Given the description of an element on the screen output the (x, y) to click on. 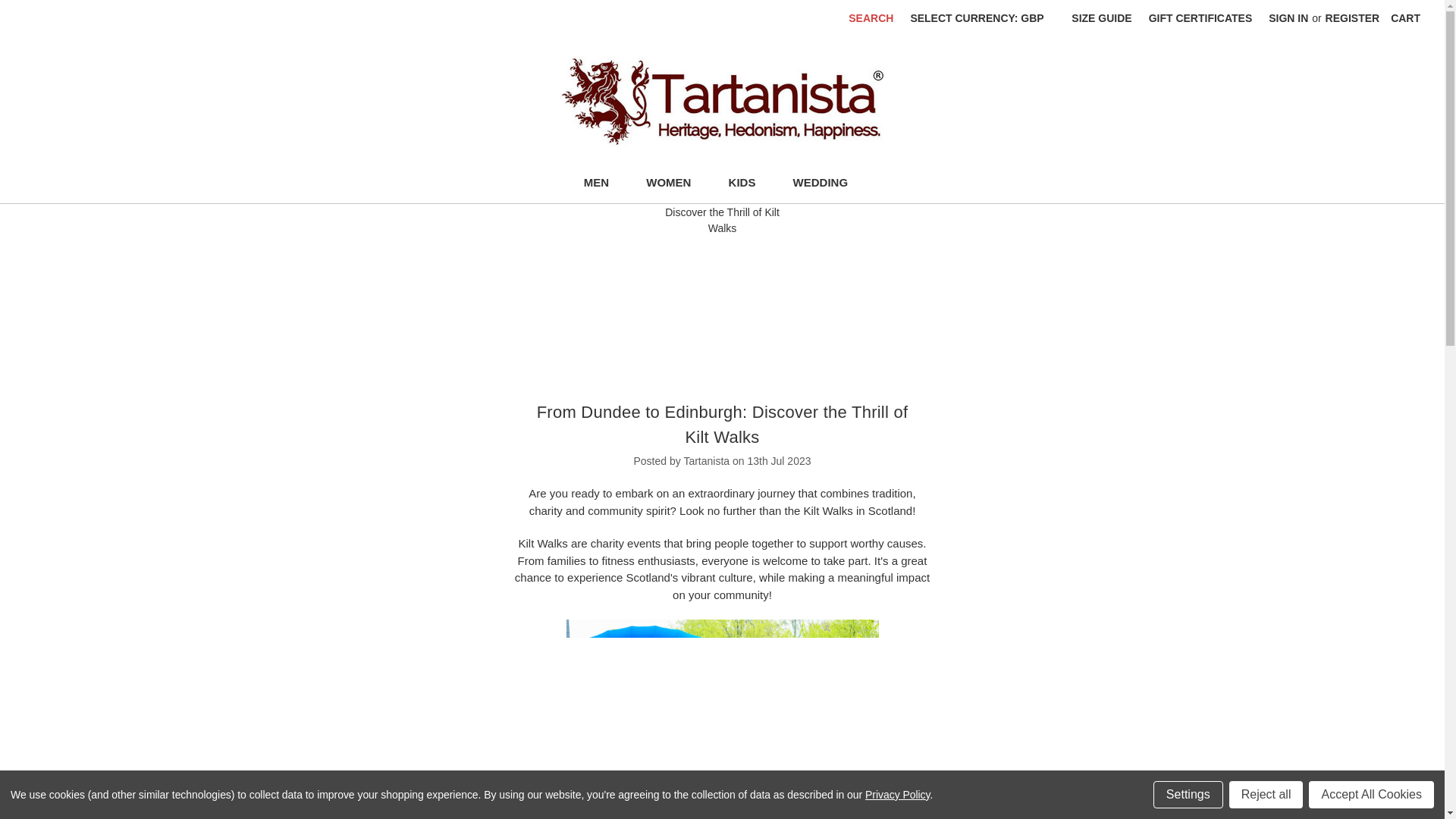
GIFT CERTIFICATES (1200, 18)
REGISTER (1353, 18)
CART (1404, 18)
Tartanista (722, 101)
SIZE GUIDE (1101, 18)
SIGN IN (1288, 18)
SEARCH (870, 18)
SELECT CURRENCY: GBP (981, 18)
MEN (602, 184)
